Given the description of an element on the screen output the (x, y) to click on. 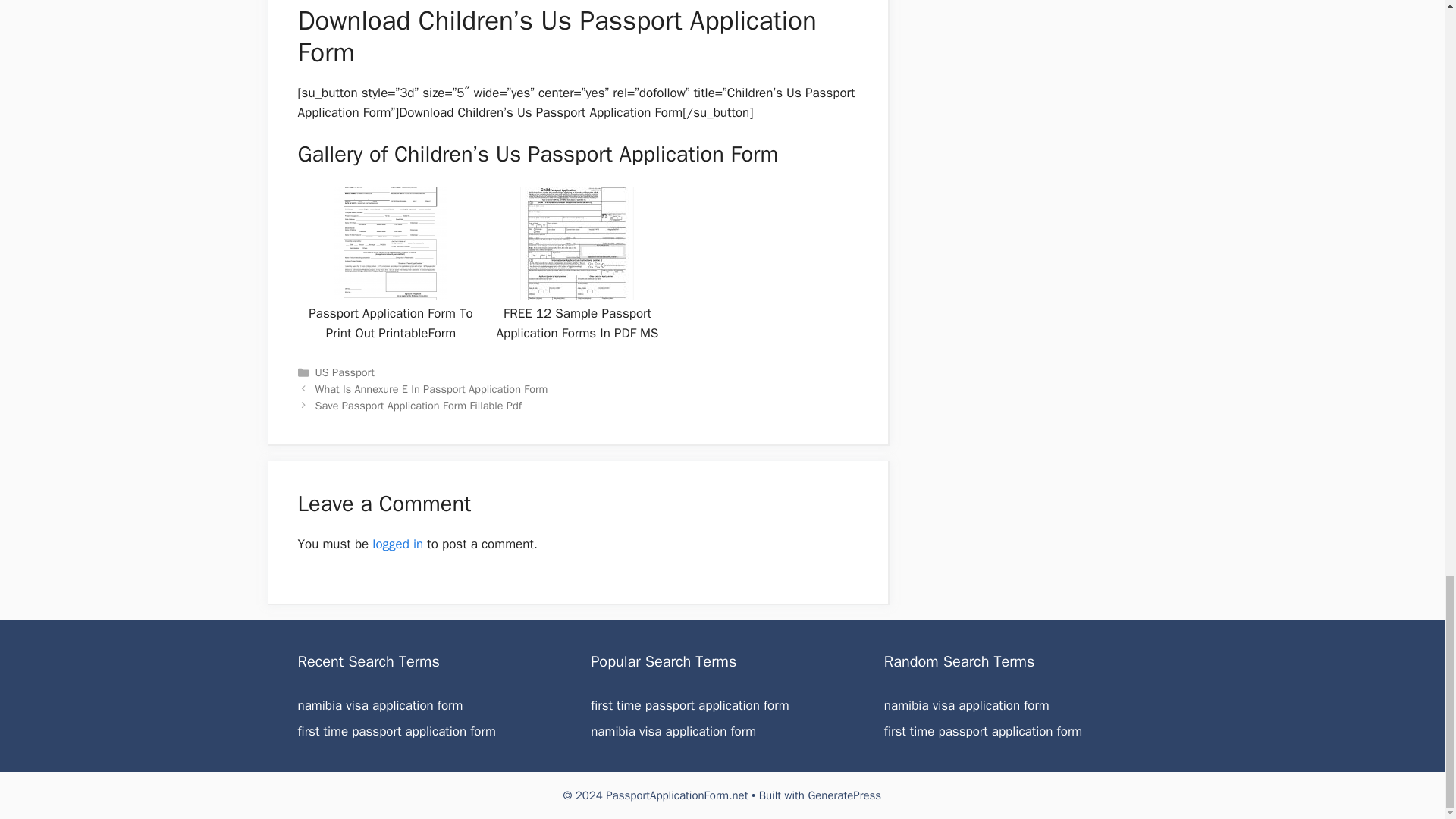
namibia visa application form (673, 731)
namibia visa application form (380, 705)
logged in (397, 544)
first time passport application form (982, 731)
first time passport application form (690, 705)
Save Passport Application Form Fillable Pdf (418, 405)
Next (418, 405)
first time passport application form (396, 731)
What Is Annexure E In Passport Application Form (431, 388)
first time passport application form (690, 705)
first time passport application form (396, 731)
US Passport (344, 372)
namibia visa application form (966, 705)
namibia visa application form (966, 705)
namibia visa application form (673, 731)
